Given the description of an element on the screen output the (x, y) to click on. 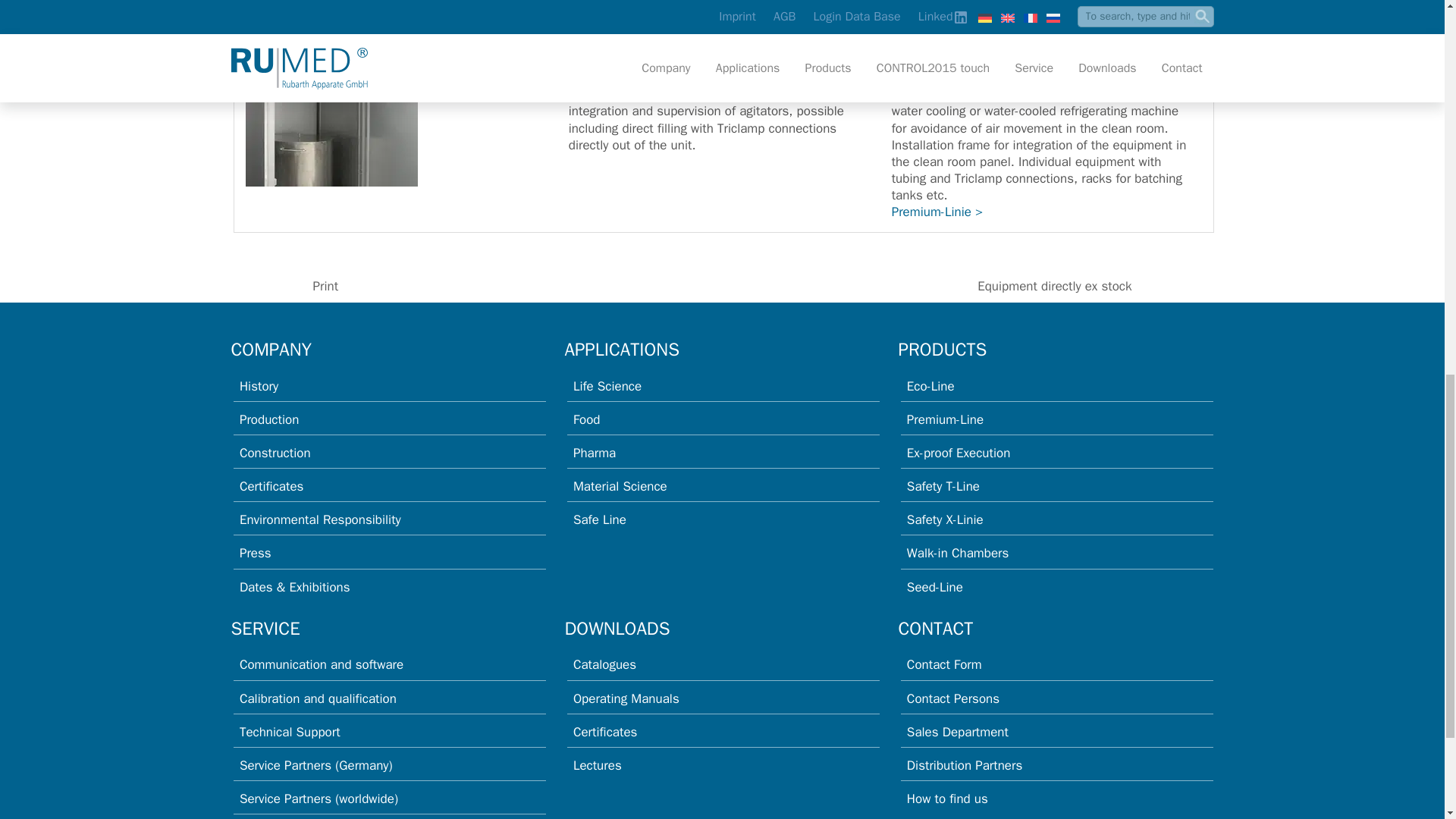
Eco-Line (931, 385)
Environmental Responsibility (320, 519)
Life Science (607, 385)
Pharma (594, 453)
Safety T-Line (943, 486)
Food (586, 419)
Premium-Line (945, 419)
Communication and software (321, 664)
Safe Line (599, 519)
Certificates (272, 486)
Safety X-Linie (945, 519)
Ex-proof Execution (958, 453)
Press (255, 553)
Walk-in Chambers (958, 553)
Production (269, 419)
